Given the description of an element on the screen output the (x, y) to click on. 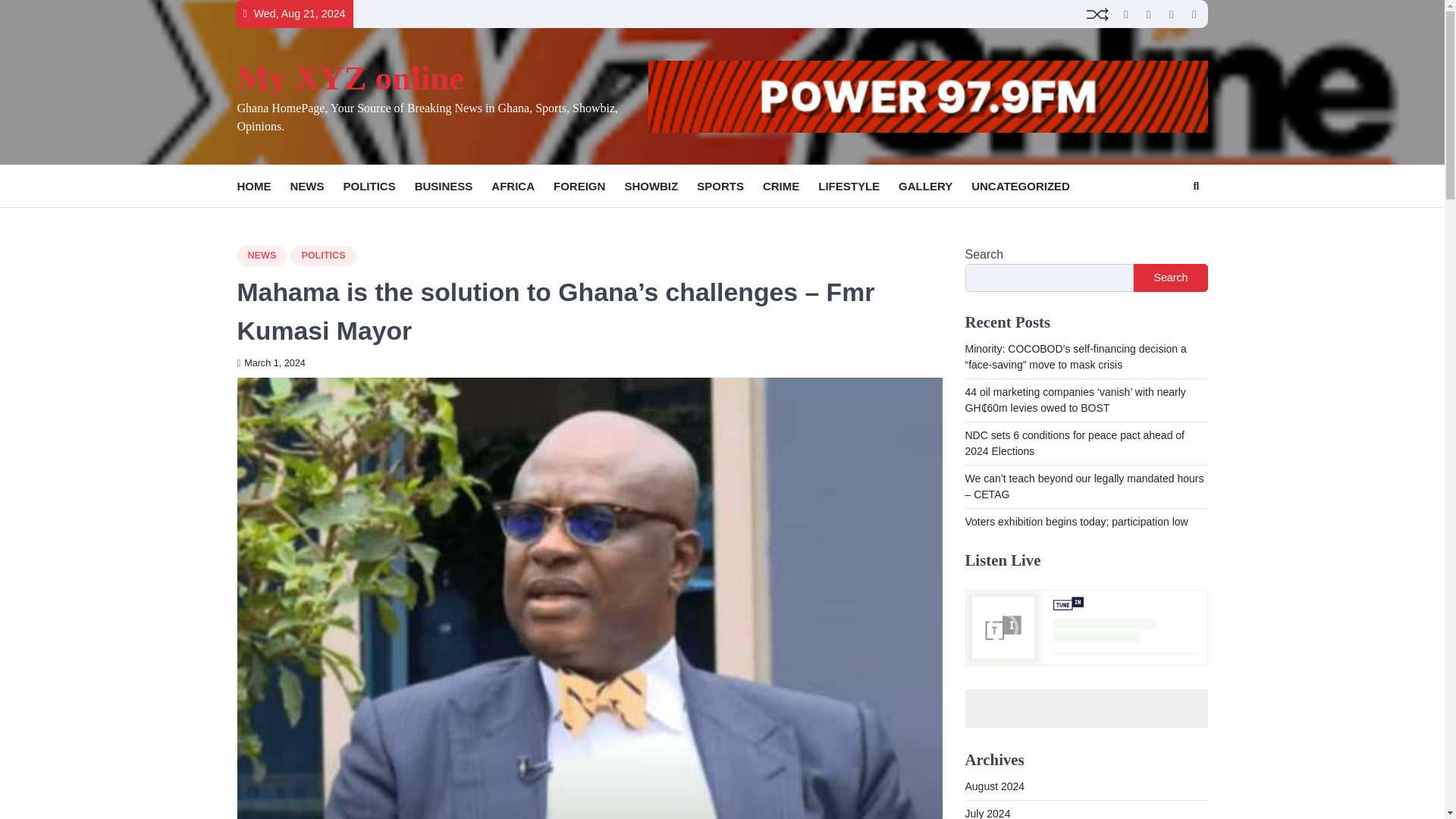
CRIME (790, 187)
LIFESTYLE (858, 187)
YouTube (1170, 14)
NEWS (260, 255)
Search (1196, 186)
POLITICS (377, 187)
Facebook (1193, 14)
Twitter (1125, 14)
AFRICA (522, 187)
SHOWBIZ (660, 187)
